Given the description of an element on the screen output the (x, y) to click on. 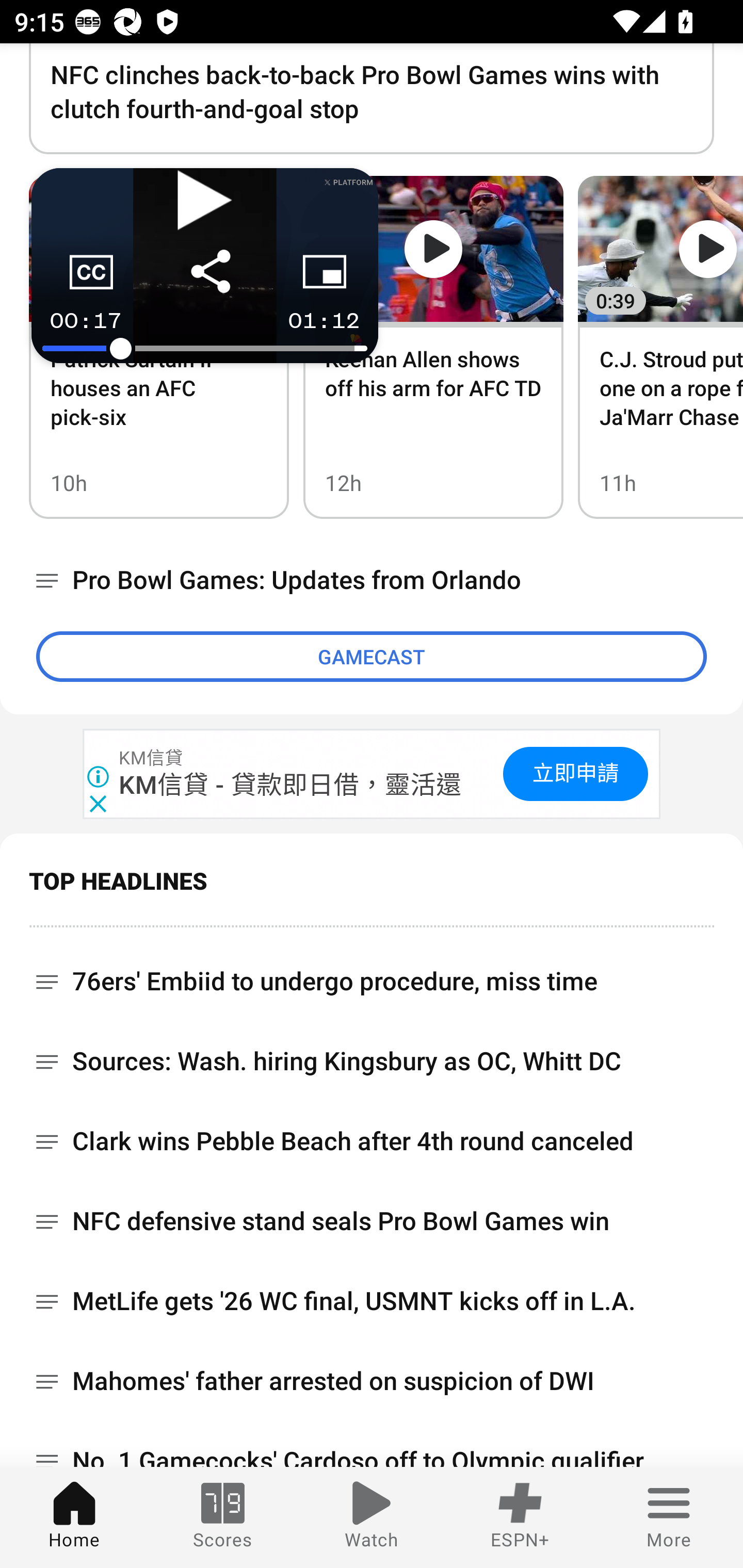
 Pro Bowl Games: Updates from Orlando (371, 580)
GAMECAST (371, 656)
KM信貸 (151, 757)
立即申請 (575, 773)
KM信貸 - 貸款即日借，靈活還 (290, 784)
 76ers' Embiid to undergo procedure, miss time (371, 974)
 Sources: Wash. hiring Kingsbury as OC, Whitt DC (371, 1062)
 Clark wins Pebble Beach after 4th round canceled (371, 1142)
 NFC defensive stand seals Pro Bowl Games win (371, 1222)
 Mahomes' father arrested on suspicion of DWI (371, 1382)
Scores (222, 1517)
Watch (371, 1517)
ESPN+ (519, 1517)
More (668, 1517)
